Given the description of an element on the screen output the (x, y) to click on. 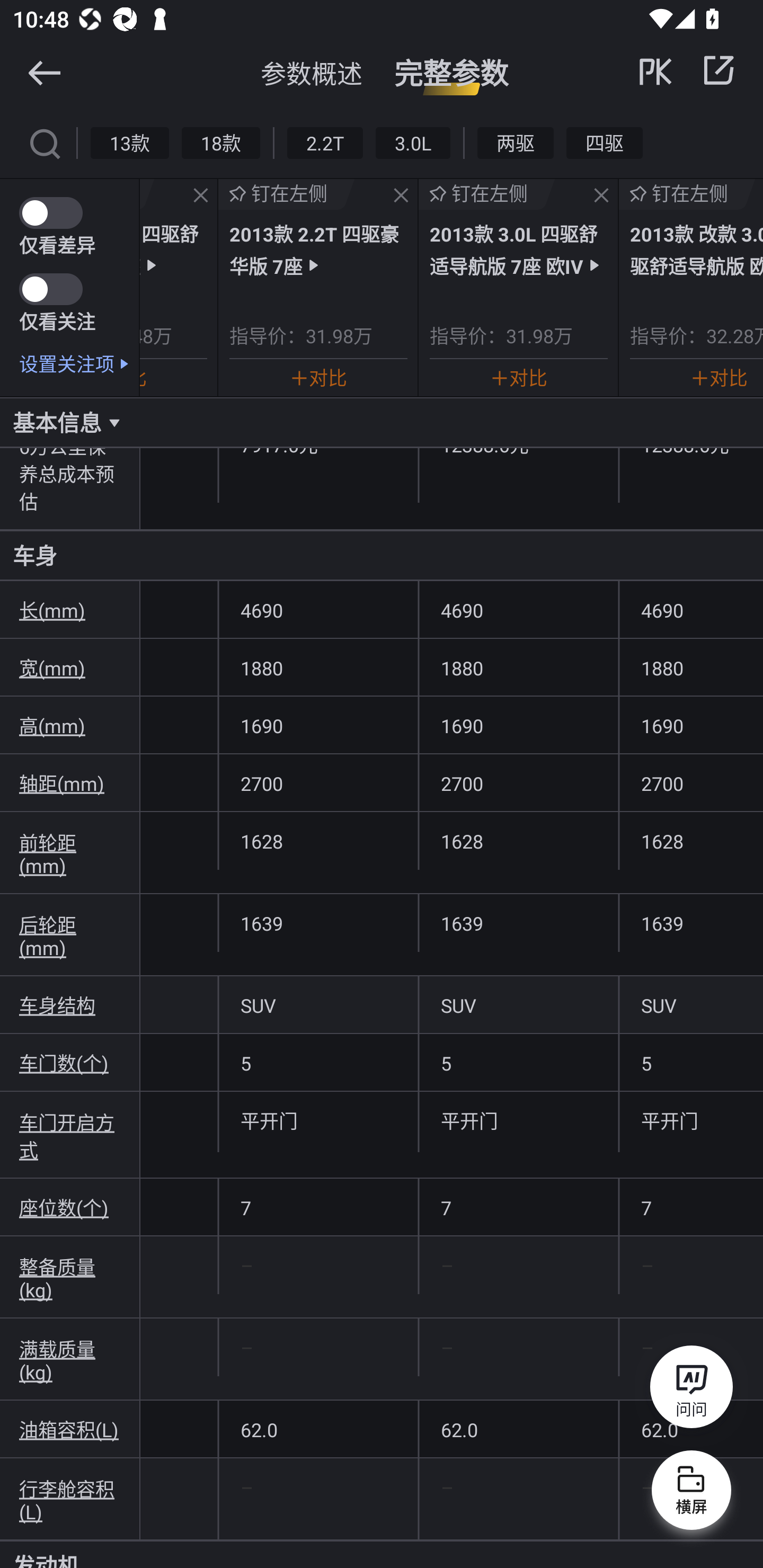
  (688, 70)
参数概述 (311, 72)
 (718, 70)
 (44, 71)
 (44, 142)
13款 (129, 142)
18款 (220, 142)
2.2T (324, 142)
3.0L (412, 142)
两驱 (515, 142)
四驱 (604, 142)
 钉在左侧 (146, 194)
 (200, 195)
 钉在左侧 (286, 194)
 (400, 195)
 钉在左侧 (486, 194)
 (600, 195)
 钉在左侧 (686, 194)
2013款 2.2T 四驱舒适导航版 7座  (173, 249)
2013款 2.2T 四驱豪华版 7座  (318, 249)
2013款 3.0L 四驱舒适导航版 7座 欧IV  (518, 249)
设置关注项  (79, 363)
对比 (142, 377)
对比 (318, 377)
对比 (518, 377)
对比 (718, 377)
基本信息  (381, 422)
4690 (318, 609)
4690 (518, 609)
4690 (690, 609)
长(mm) (69, 609)
1880 (318, 667)
1880 (518, 667)
1880 (690, 667)
宽(mm) (69, 667)
1690 (318, 725)
1690 (518, 725)
1690 (690, 725)
高(mm) (69, 724)
2700 (318, 783)
2700 (518, 783)
2700 (690, 783)
轴距(mm) (69, 782)
1628 (318, 841)
1628 (518, 841)
1628 (690, 841)
前轮距(mm) (69, 852)
1639 (318, 922)
1639 (518, 922)
1639 (690, 922)
后轮距(mm) (69, 934)
SUV (318, 1004)
SUV (518, 1004)
SUV (690, 1004)
车身结构 (69, 1004)
5 (318, 1062)
5 (518, 1062)
5 (690, 1062)
车门数(个) (69, 1062)
平开门 (318, 1120)
平开门 (518, 1120)
平开门 (690, 1120)
车门开启方式 (69, 1135)
7 (318, 1208)
7 (518, 1208)
7 (690, 1208)
座位数(个) (69, 1206)
整备质量(kg) (69, 1277)
 问问 (691, 1389)
满载质量(kg) (69, 1359)
62.0 (318, 1429)
62.0 (518, 1429)
油箱容积(L) (69, 1428)
行李舱容积(L) (69, 1498)
